Given the description of an element on the screen output the (x, y) to click on. 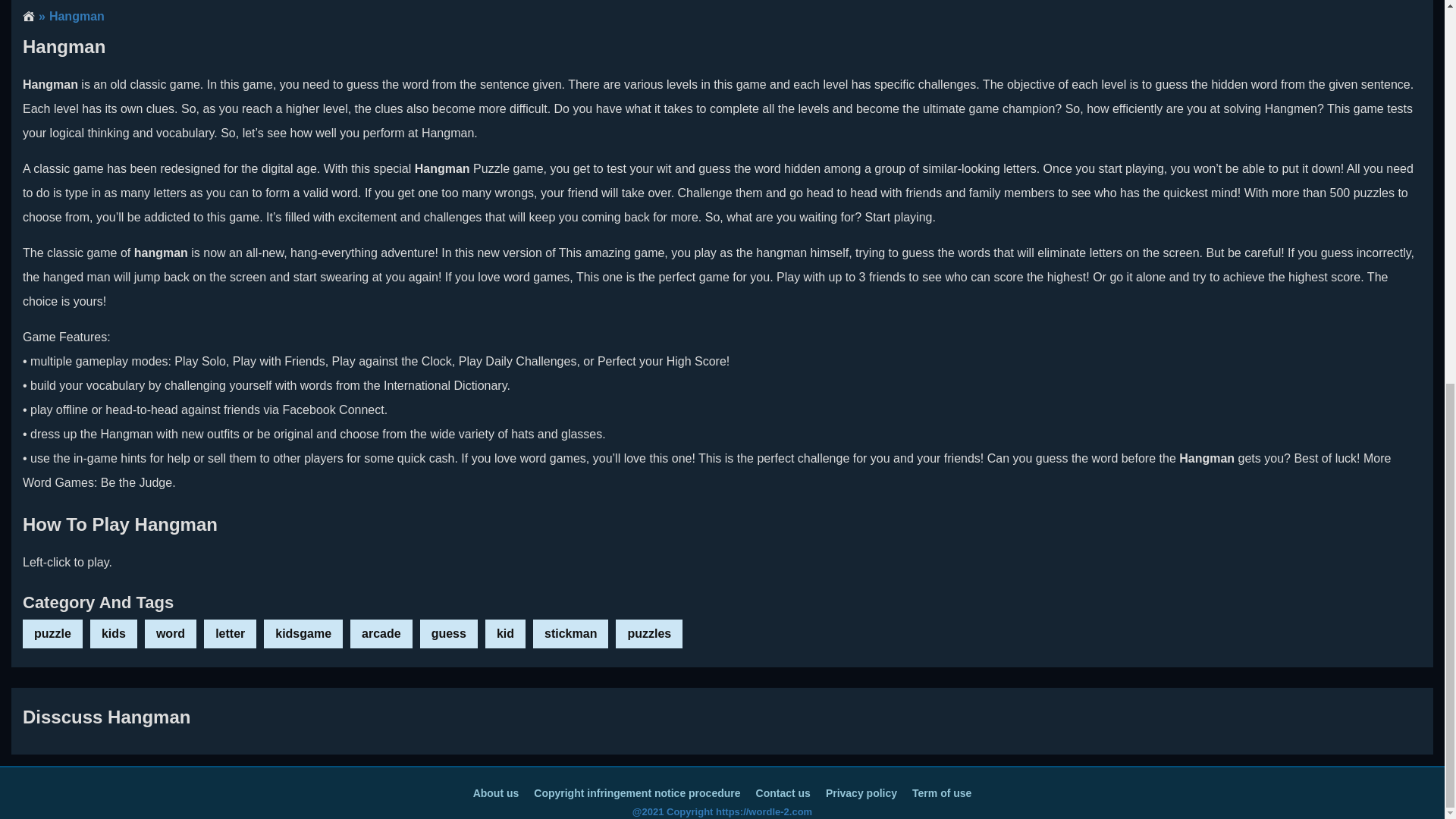
puzzle (52, 633)
Hangman (69, 16)
Contact us (782, 793)
arcade (381, 633)
kidsgame (302, 633)
word (170, 633)
Privacy policy (861, 793)
kid (504, 633)
Copyright infringement notice procedure (636, 793)
stickman (570, 633)
About us (495, 793)
letter (229, 633)
kids (113, 633)
guess (448, 633)
puzzles (648, 633)
